Given the description of an element on the screen output the (x, y) to click on. 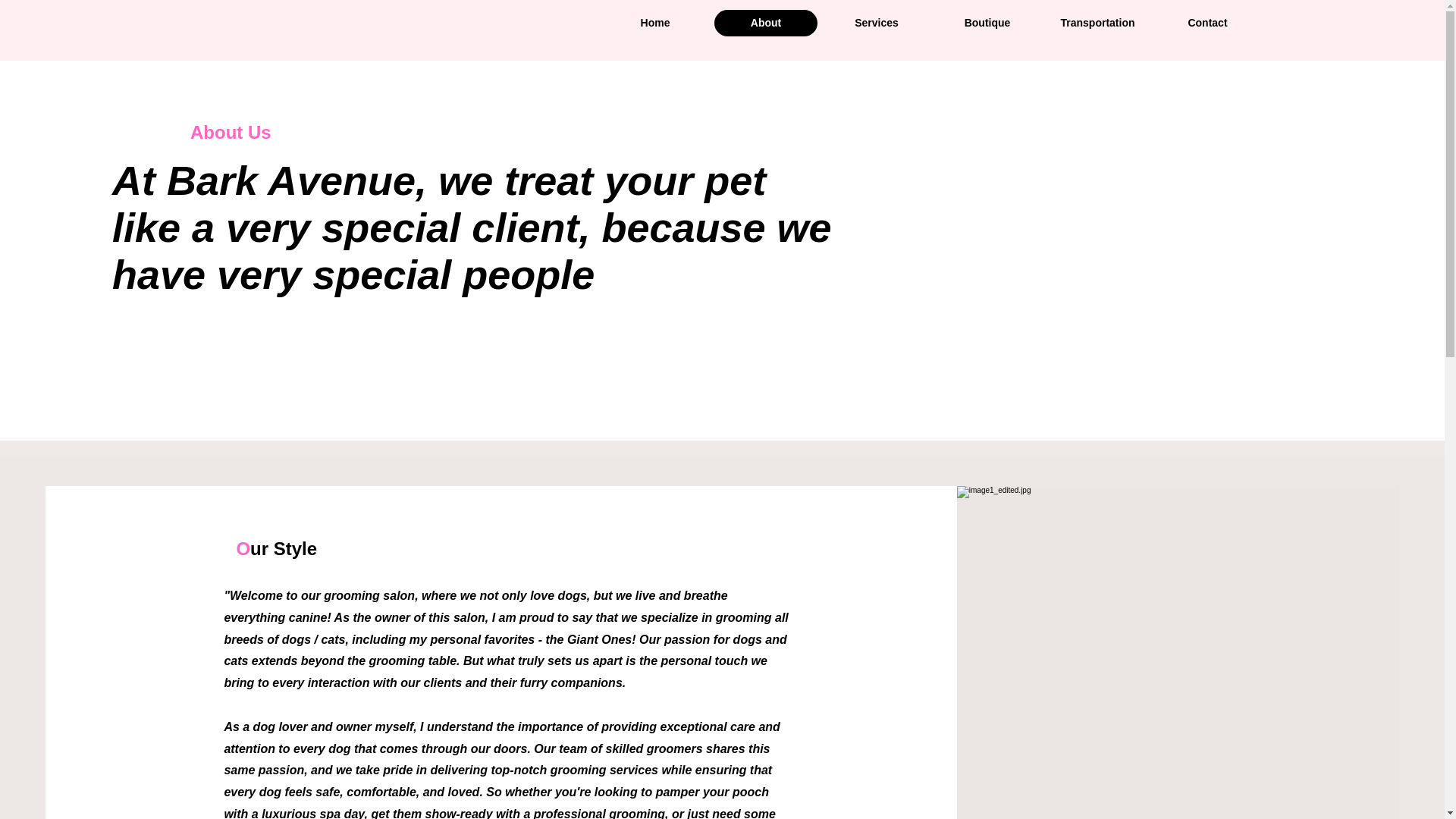
Home (655, 22)
Services (876, 22)
Transportation (1097, 22)
Contact (1207, 22)
Boutique (987, 22)
About (765, 22)
